Given the description of an element on the screen output the (x, y) to click on. 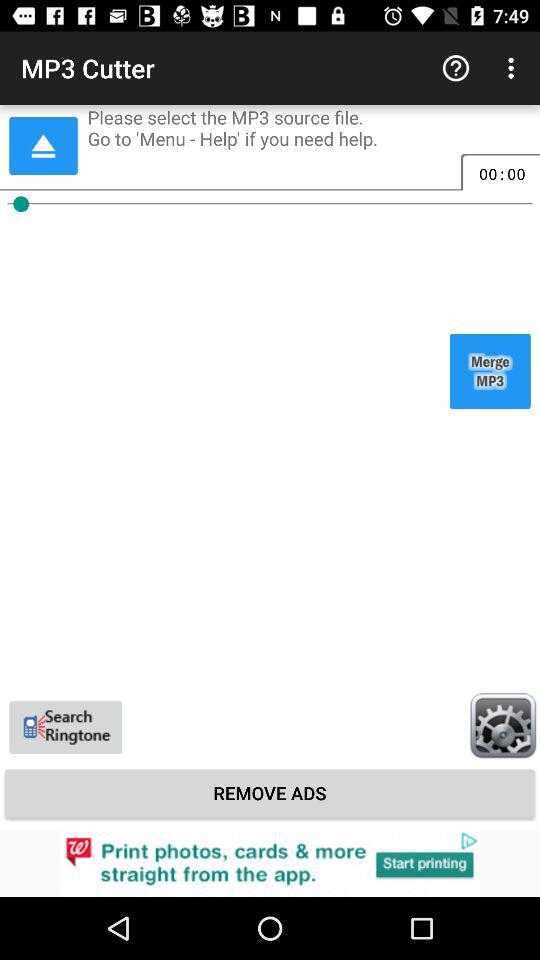
search ringtone (65, 727)
